Given the description of an element on the screen output the (x, y) to click on. 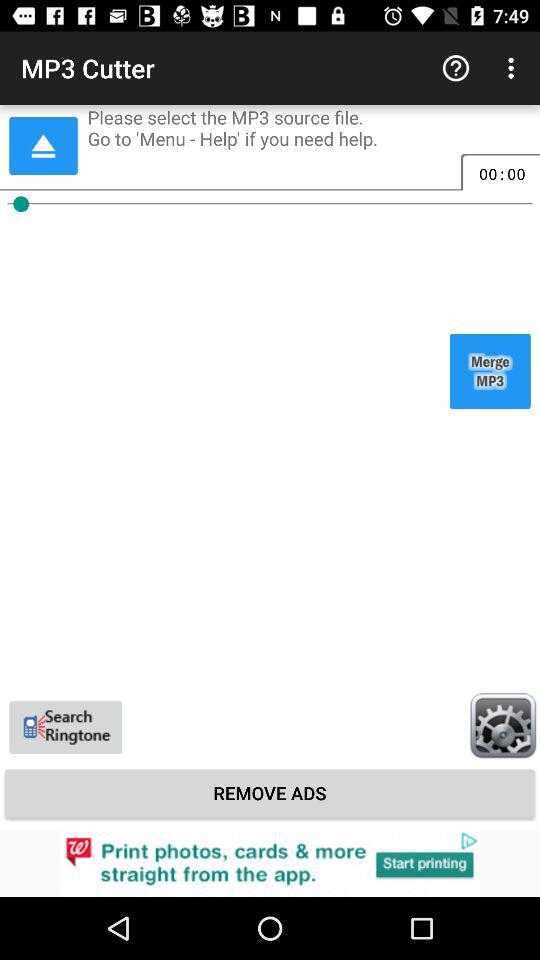
search ringtone (65, 727)
